Given the description of an element on the screen output the (x, y) to click on. 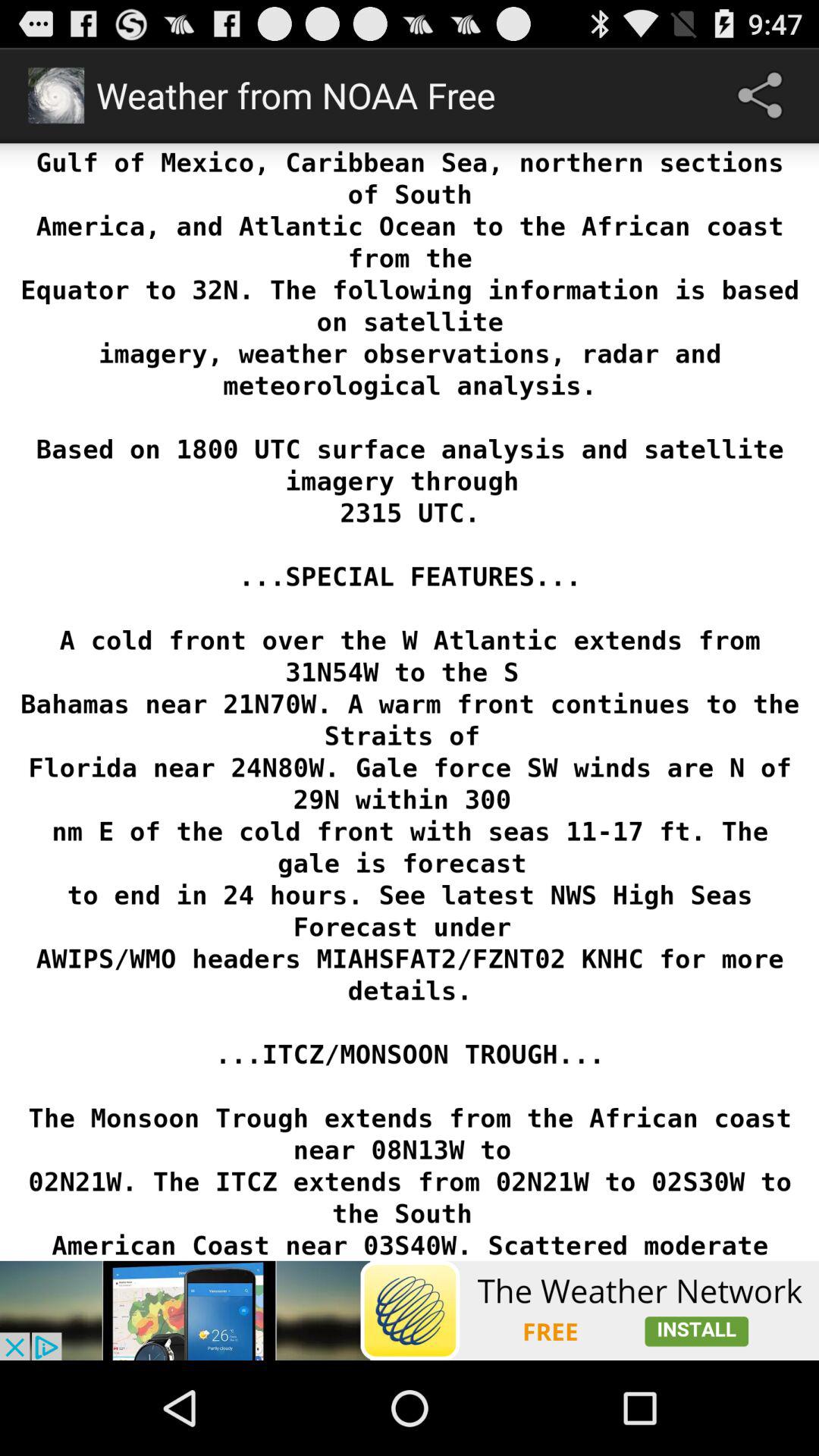
open advertisement (409, 1310)
